Given the description of an element on the screen output the (x, y) to click on. 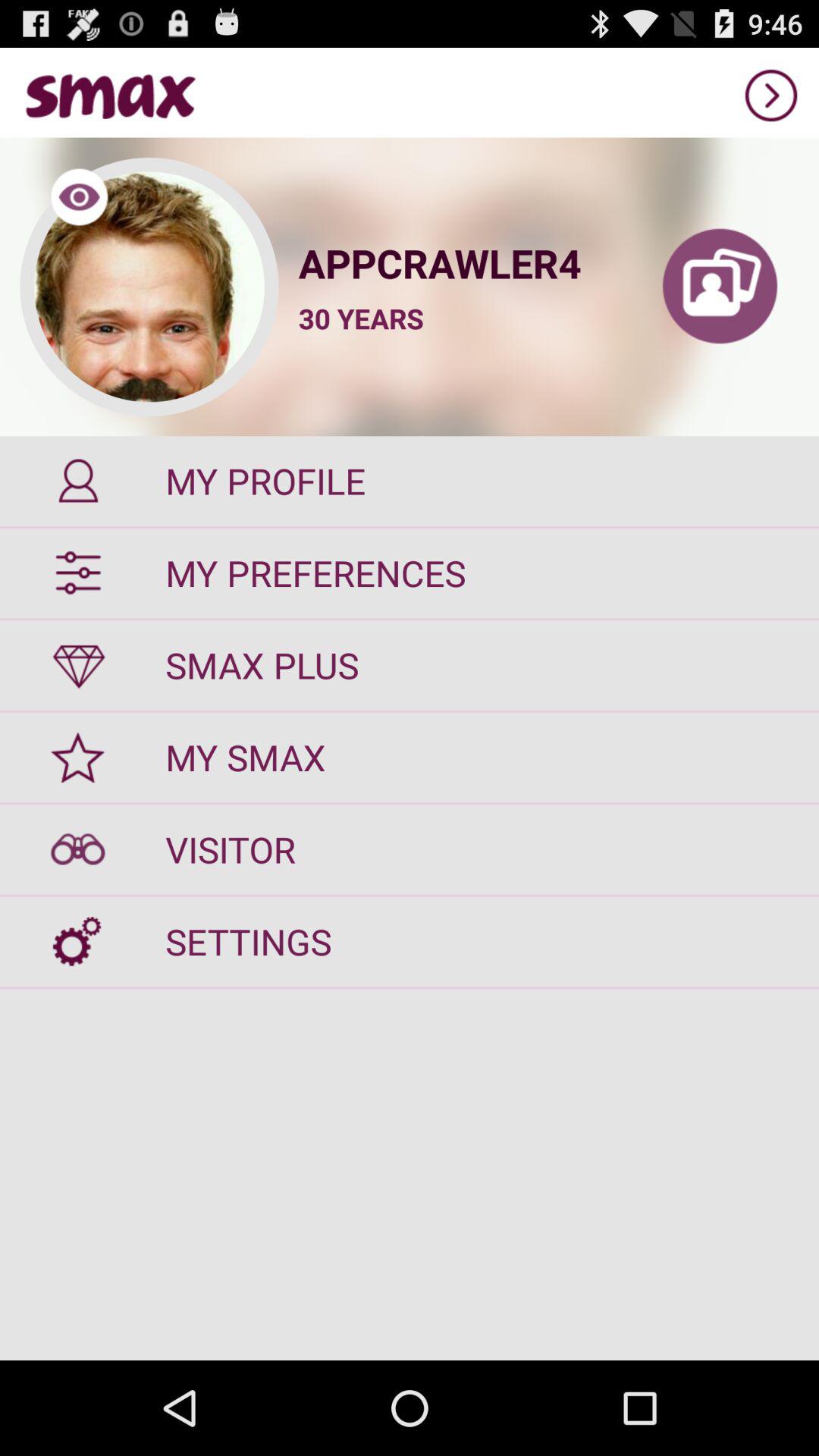
turn on the item above the my profile item (719, 286)
